Given the description of an element on the screen output the (x, y) to click on. 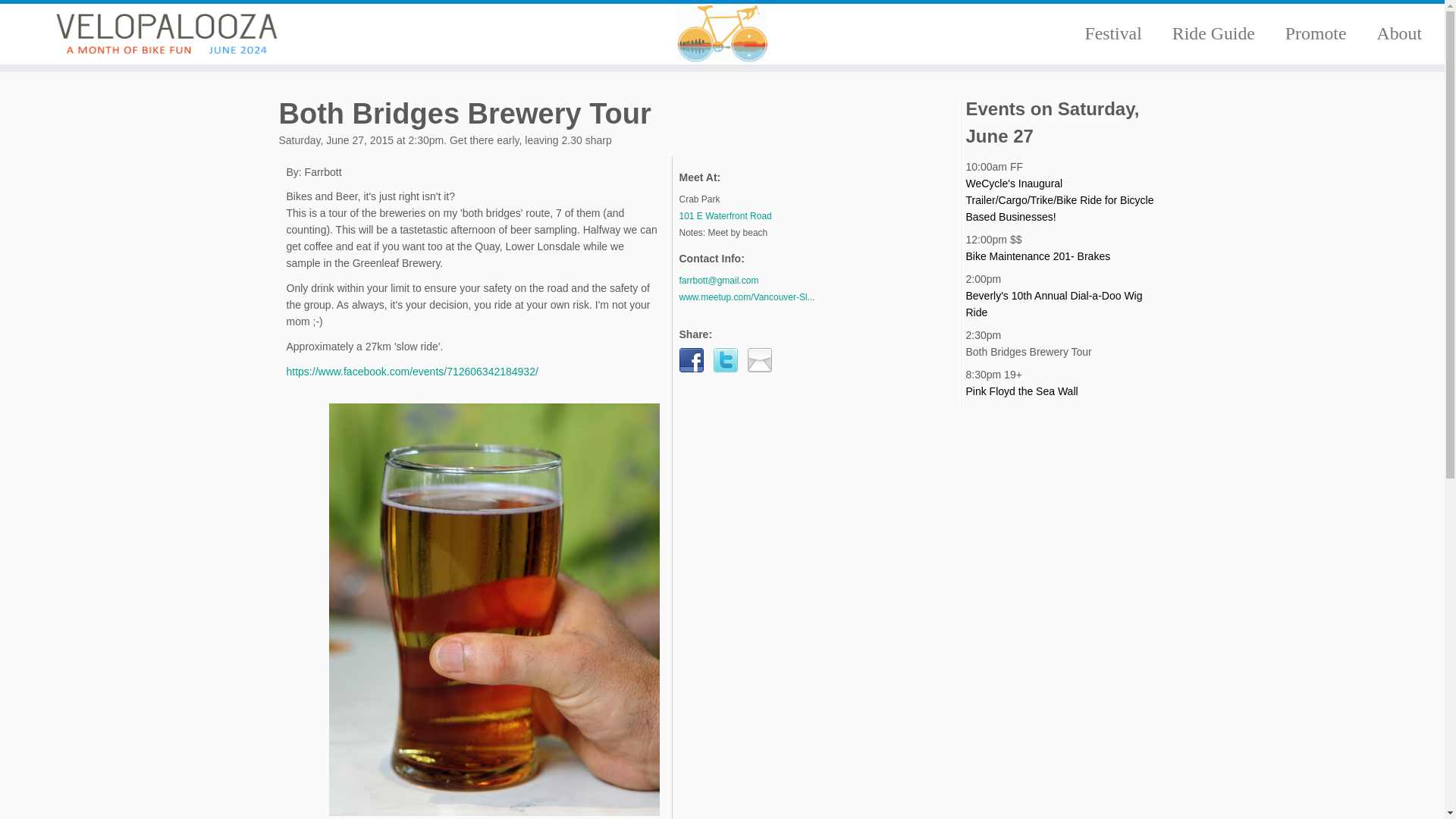
Festival (1112, 33)
101 E Waterfront Road (750, 216)
Ride Guide (1213, 33)
Beverly's 10th Annual Dial-a-Doo Wig Ride (1054, 303)
Ride Guide (1213, 33)
About (1391, 33)
Bike Maintenance 201- Brakes (1038, 256)
Promote (1315, 33)
Pink Floyd the Sea Wall (1022, 390)
About (1391, 33)
